Given the description of an element on the screen output the (x, y) to click on. 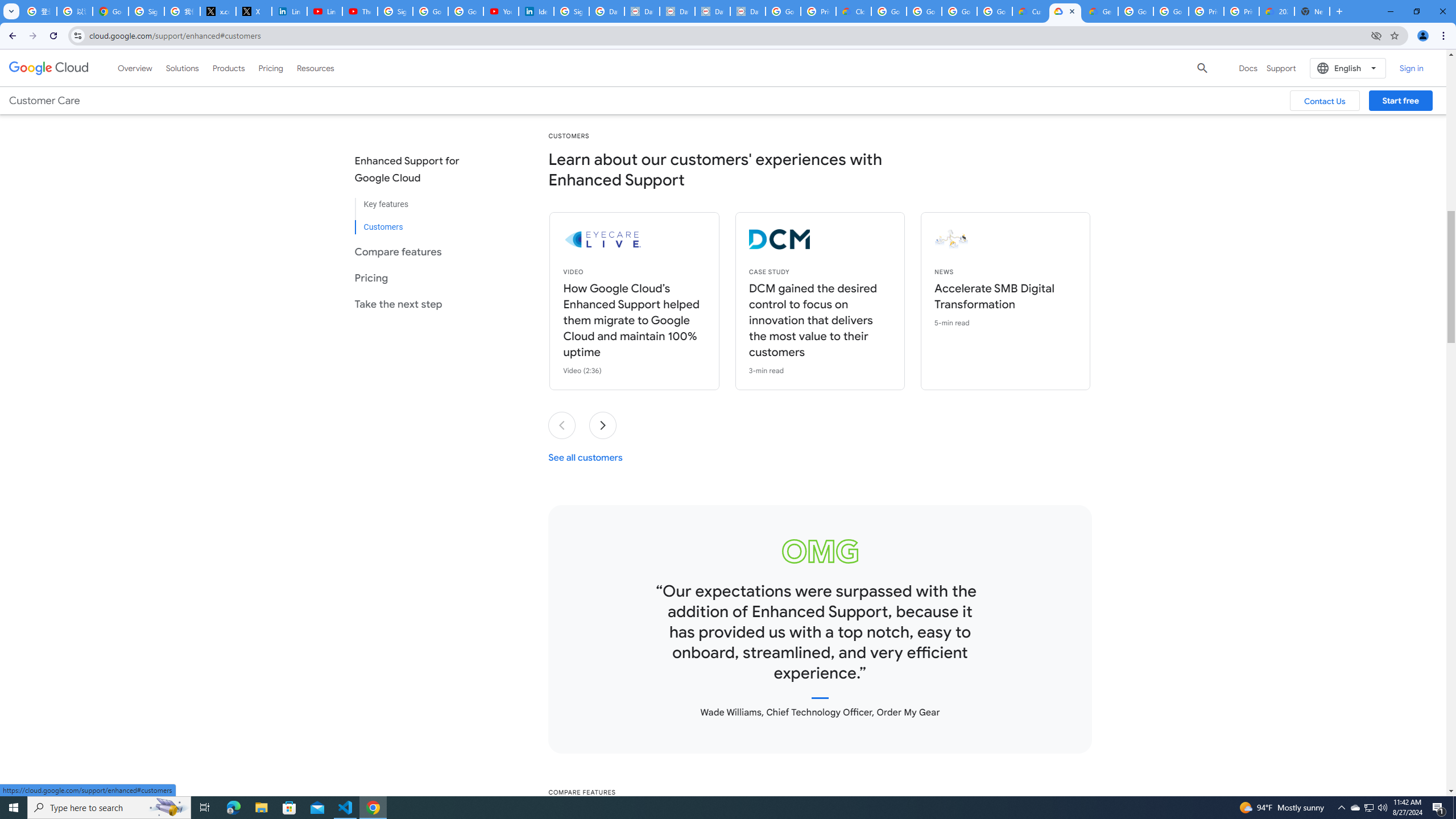
employees connected through the cloud illustration (1035, 239)
Customers (416, 222)
Google Cloud (48, 67)
See all customers (585, 456)
Data Privacy Framework (641, 11)
Cloud Data Processing Addendum | Google Cloud (853, 11)
